Given the description of an element on the screen output the (x, y) to click on. 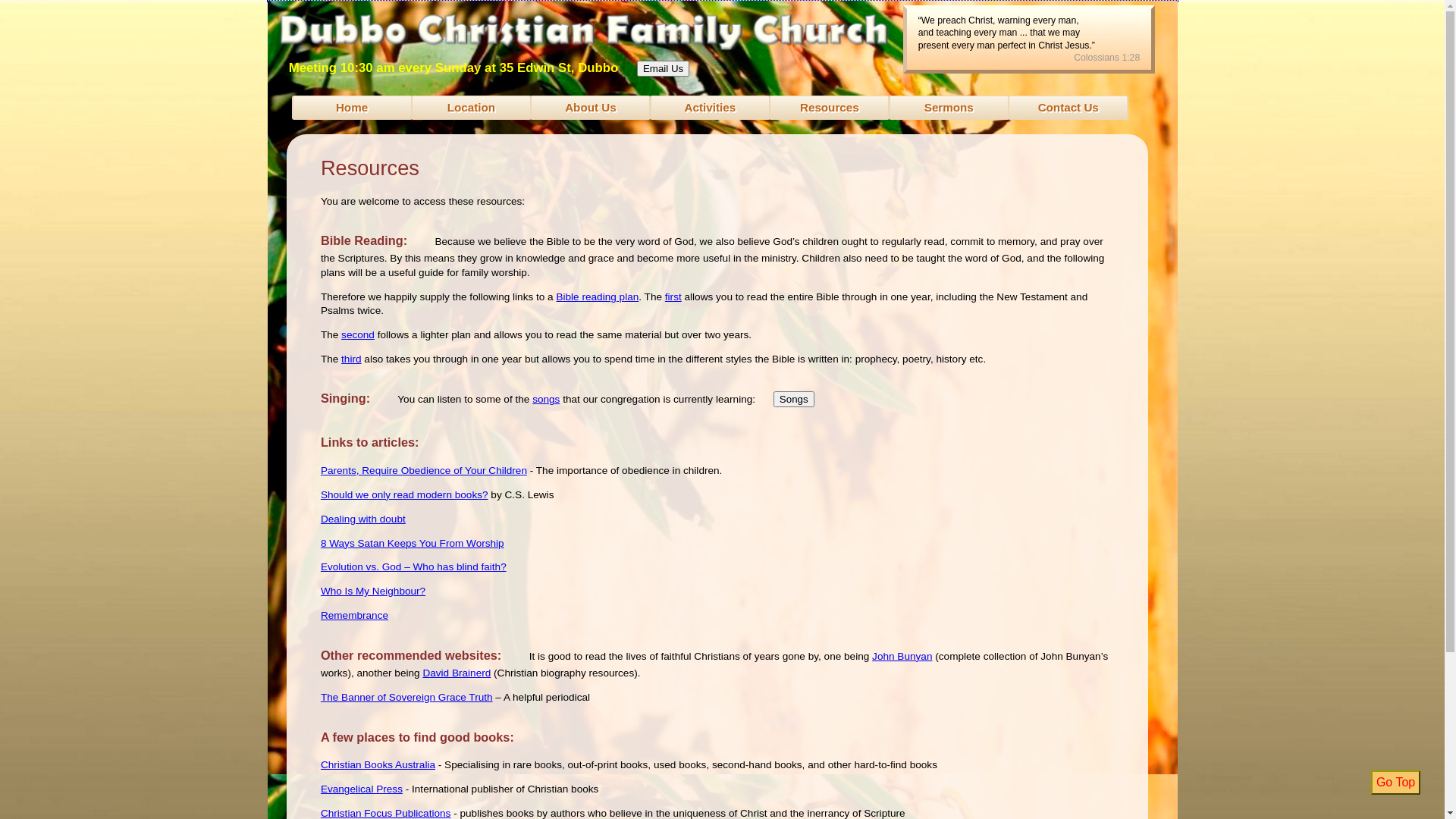
Who Is My Neighbour? Element type: text (372, 590)
Dealing with doubt Element type: text (362, 518)
third Element type: text (350, 358)
Bible reading plan Element type: text (596, 296)
Remembrance Element type: text (354, 615)
8 Ways Satan Keeps You From Worship Element type: text (412, 542)
The Banner of Sovereign Grace Truth Element type: text (406, 696)
Evangelical Press Element type: text (361, 788)
Contact Us Element type: text (1067, 107)
Should we only read modern books? Element type: text (404, 494)
Go Top Element type: text (1395, 782)
songs Element type: text (545, 398)
Christian Books Australia Element type: text (377, 764)
Resources Element type: text (828, 107)
About Us Element type: text (590, 107)
Songs Element type: text (793, 399)
John Bunyan Element type: text (901, 656)
Location Element type: text (471, 107)
Parents, Require Obedience of Your Children Element type: text (423, 470)
Activities Element type: text (709, 107)
Sermons Element type: text (948, 107)
David Brainerd Element type: text (456, 672)
second Element type: text (357, 334)
first Element type: text (673, 296)
Home Element type: text (351, 107)
Email Us Element type: text (663, 68)
